Given the description of an element on the screen output the (x, y) to click on. 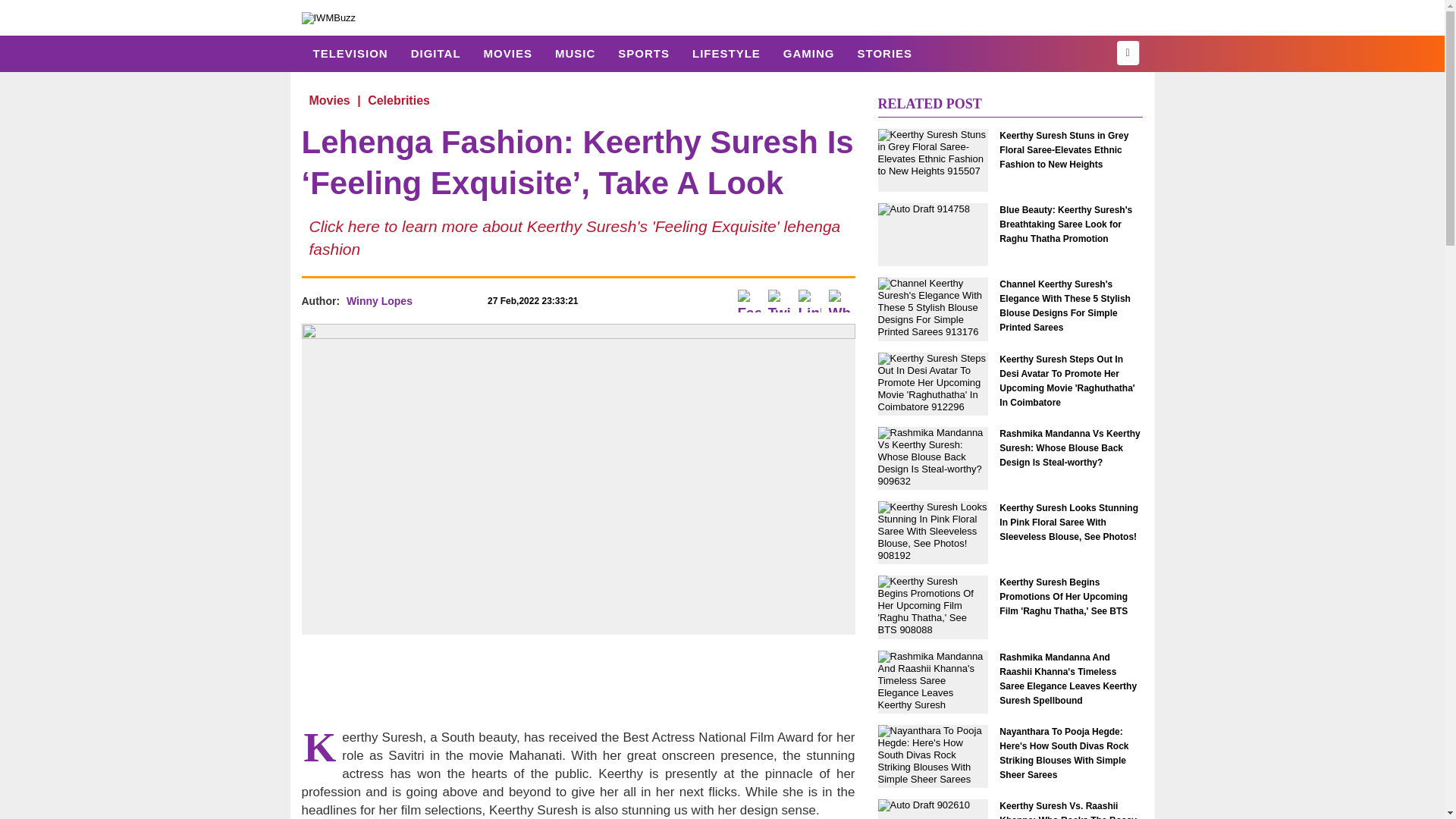
Celebrities (398, 100)
Web Stories (884, 53)
TELEVISION (349, 53)
SPORTS (644, 53)
MOVIES (507, 53)
DIGITAL (434, 53)
Sports (644, 53)
